Given the description of an element on the screen output the (x, y) to click on. 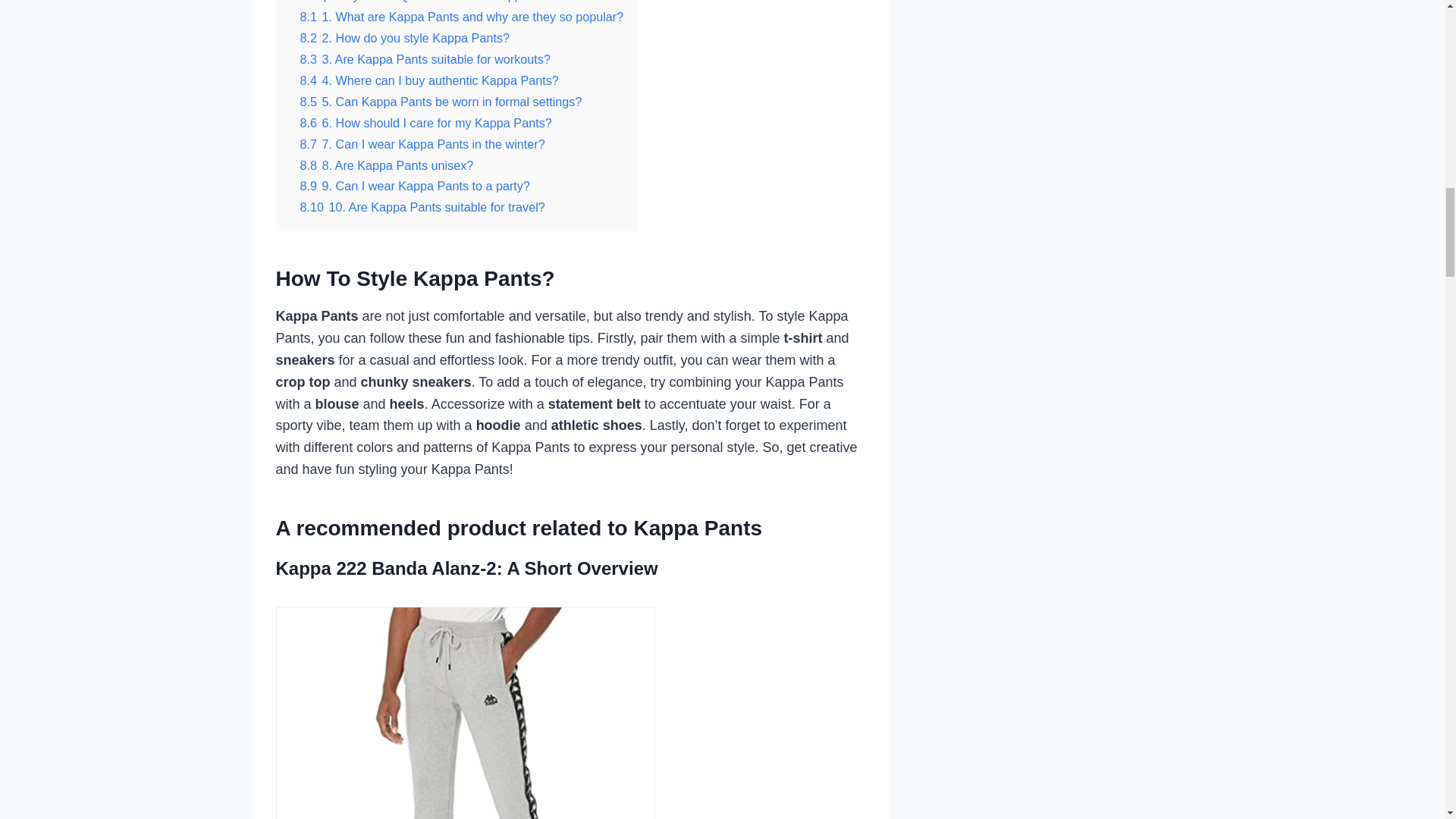
8.3 3. Are Kappa Pants suitable for workouts? (424, 59)
8.9 9. Can I wear Kappa Pants to a party? (414, 185)
8.5 5. Can Kappa Pants be worn in formal settings? (440, 101)
8.2 2. How do you style Kappa Pants? (404, 38)
8.6 6. How should I care for my Kappa Pants? (425, 122)
8.10 10. Are Kappa Pants suitable for travel? (421, 206)
8.4 4. Where can I buy authentic Kappa Pants? (429, 79)
8.8 8. Are Kappa Pants unisex? (386, 164)
8.1 1. What are Kappa Pants and why are they so popular? (461, 16)
8.7 7. Can I wear Kappa Pants in the winter? (421, 143)
